Given the description of an element on the screen output the (x, y) to click on. 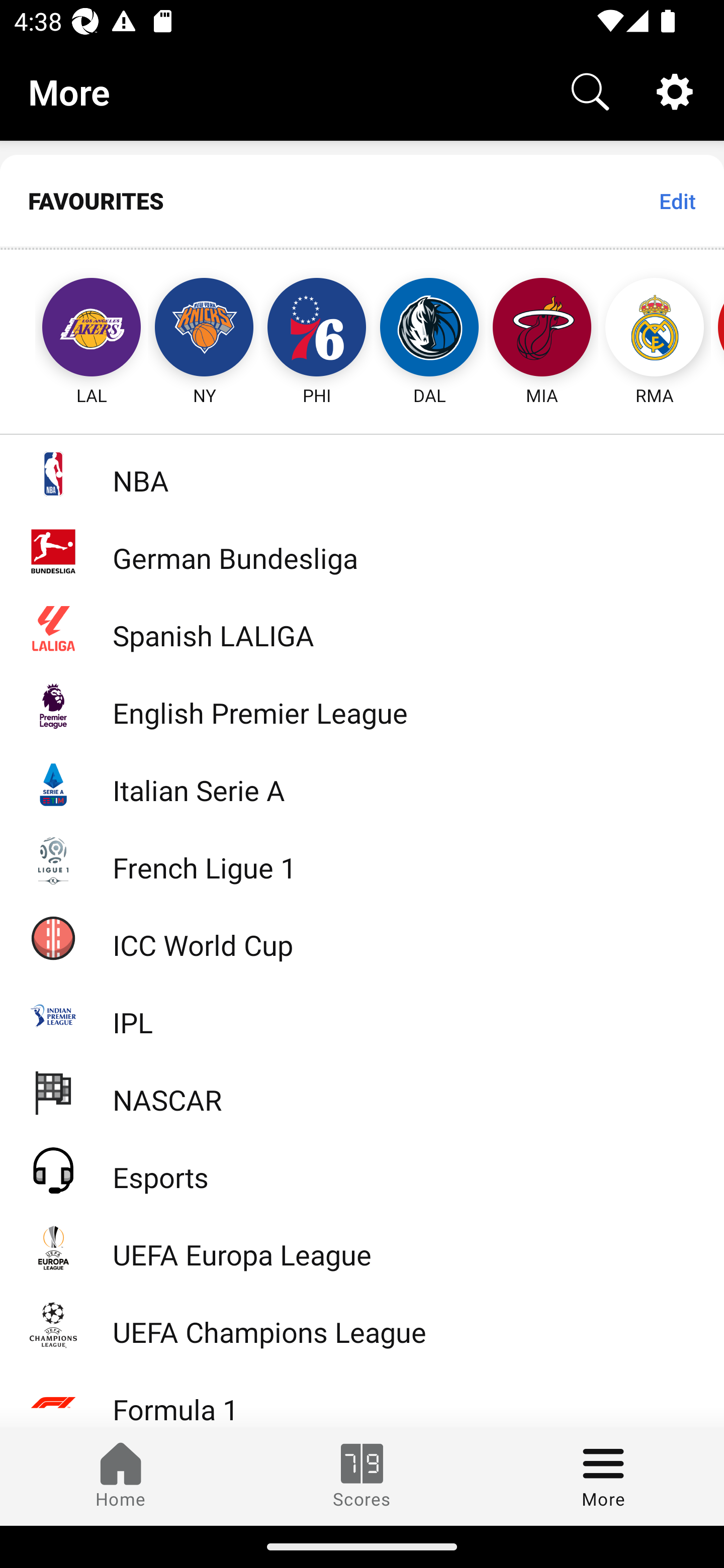
Search (590, 90)
Settings (674, 90)
Edit (676, 200)
LAL Los Angeles Lakers (73, 328)
NY New York Knicks (203, 328)
PHI Philadelphia 76ers (316, 328)
DAL Dallas Mavericks (428, 328)
MIA Miami Heat (541, 328)
RMA Real Madrid (654, 328)
NBA (362, 473)
German Bundesliga (362, 550)
Spanish LALIGA (362, 627)
English Premier League (362, 705)
Italian Serie A (362, 782)
French Ligue 1 (362, 859)
ICC World Cup (362, 937)
IPL (362, 1014)
NASCAR (362, 1091)
Esports (362, 1169)
UEFA Europa League (362, 1246)
UEFA Champions League (362, 1324)
Home (120, 1475)
Scores (361, 1475)
